Given the description of an element on the screen output the (x, y) to click on. 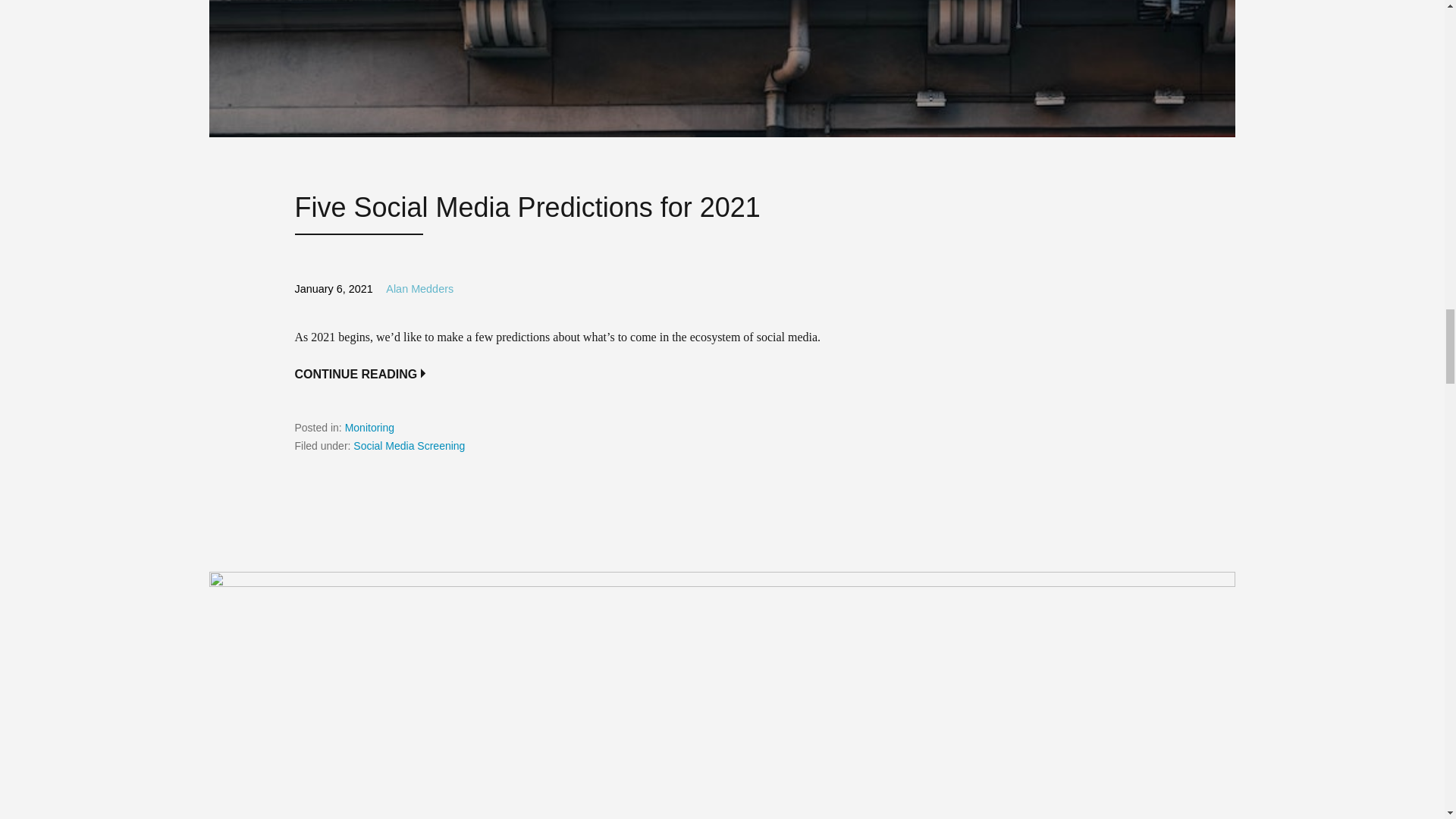
Alan Medders (418, 288)
CONTINUE READING (360, 374)
Posts by Alan Medders (418, 288)
Monitoring (369, 427)
Five Social Media Predictions for 2021 (527, 206)
Social Media Screening (408, 445)
